Given the description of an element on the screen output the (x, y) to click on. 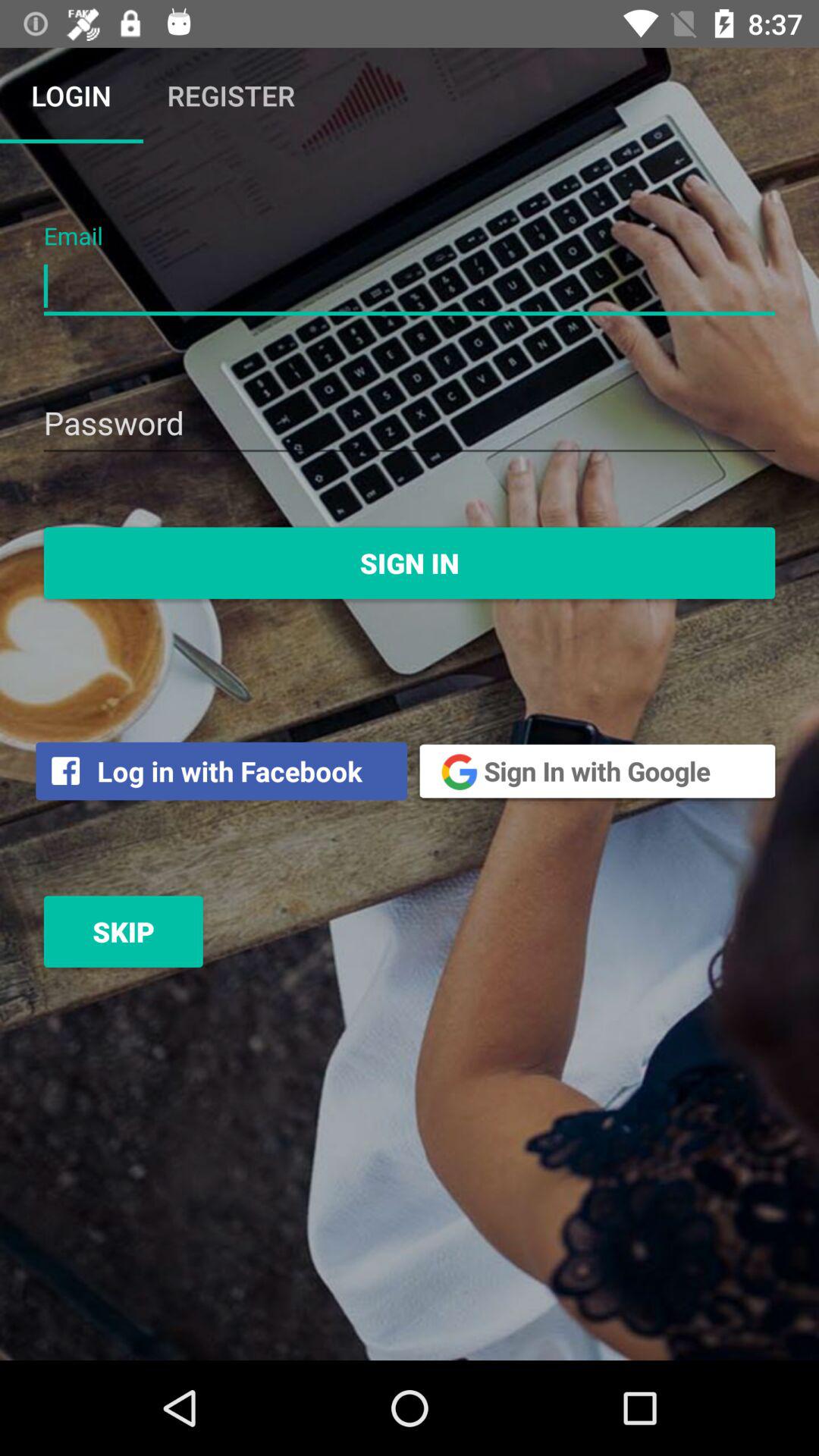
login password (409, 424)
